Given the description of an element on the screen output the (x, y) to click on. 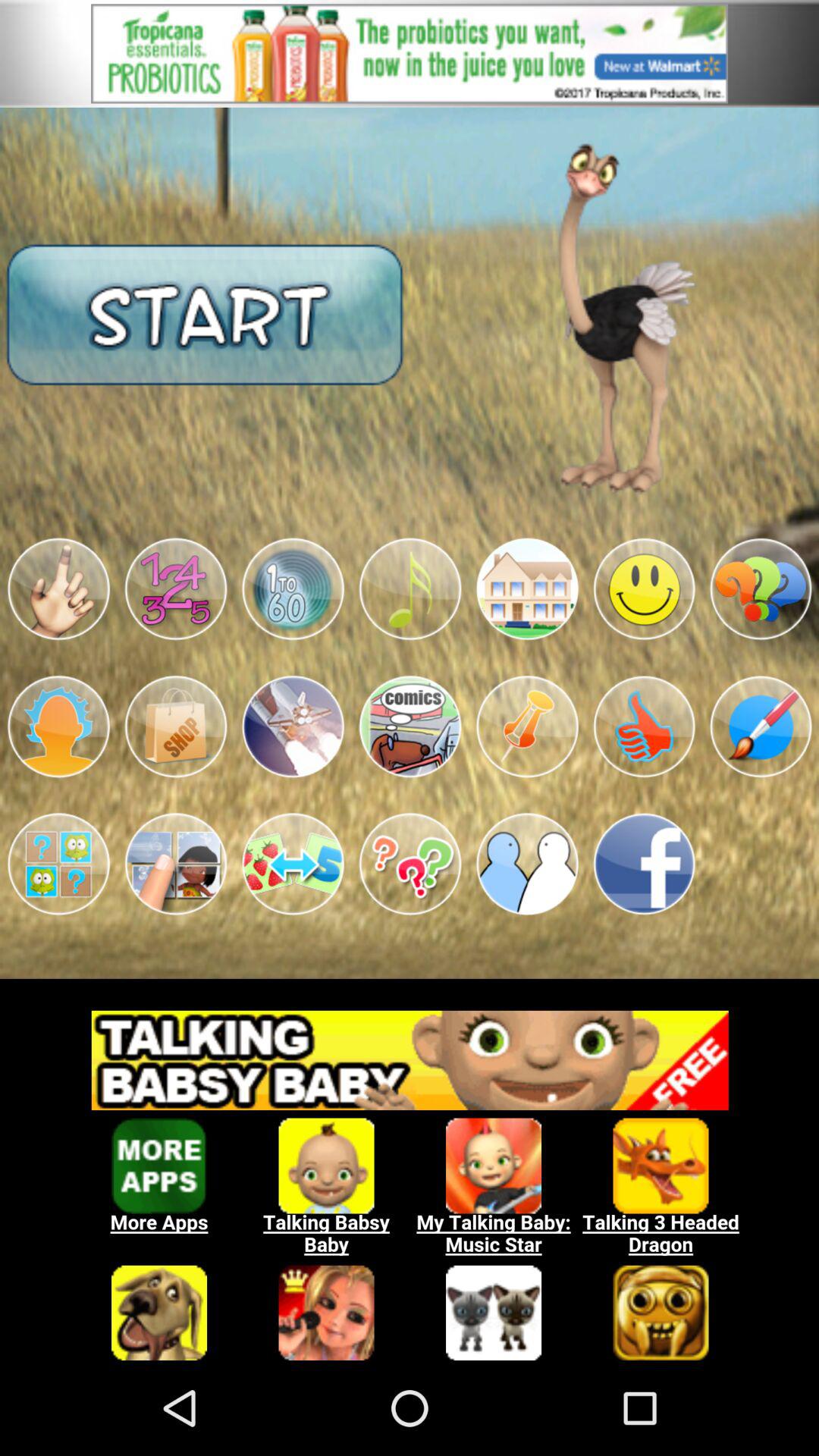
shows hand sumbol (58, 589)
